Given the description of an element on the screen output the (x, y) to click on. 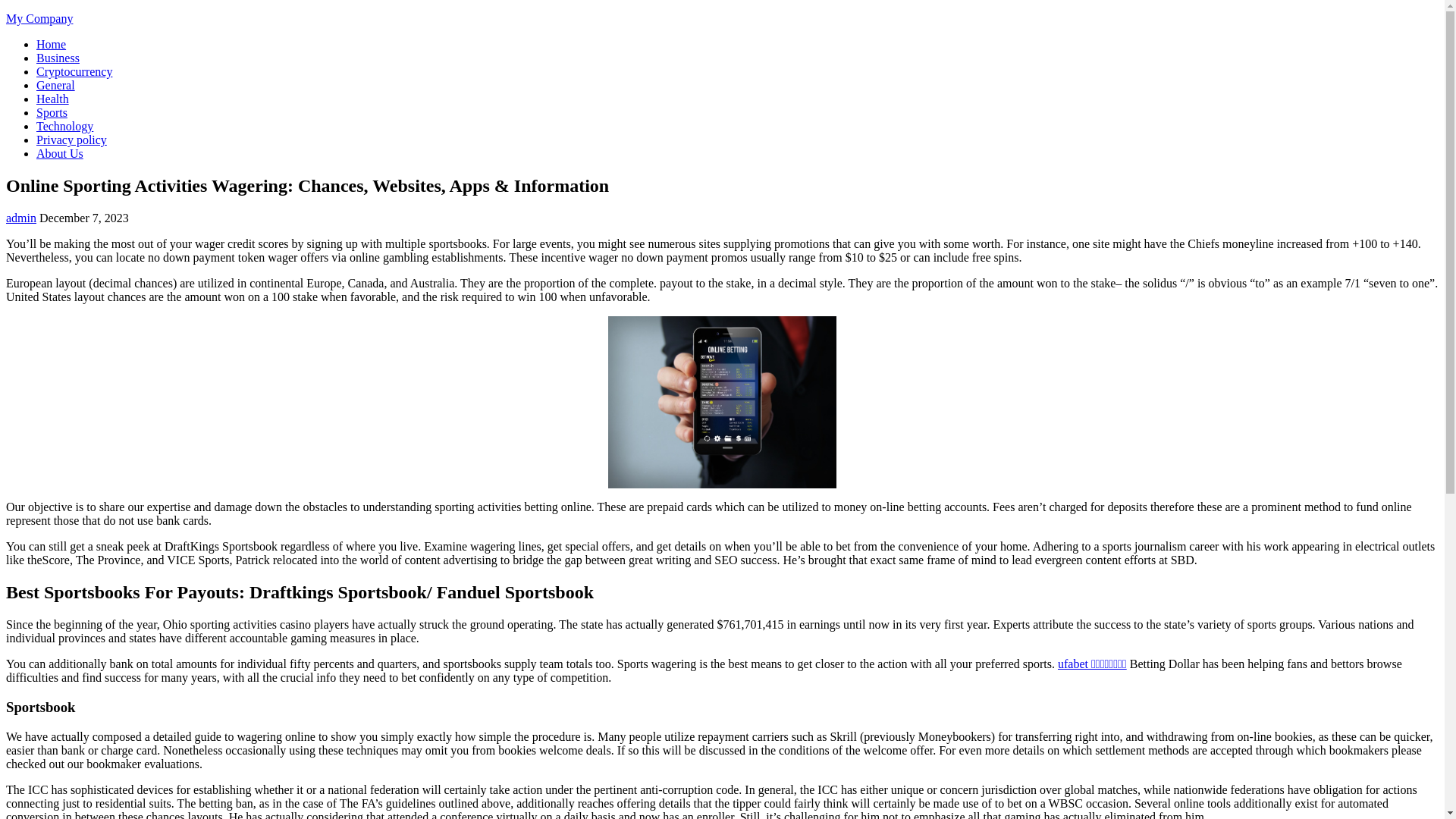
admin (20, 217)
Sports (51, 112)
Business (58, 57)
My Company (38, 18)
Home (50, 43)
Health (52, 98)
Cryptocurrency (74, 71)
Privacy policy (71, 139)
Technology (64, 125)
General (55, 84)
About Us (59, 153)
